Given the description of an element on the screen output the (x, y) to click on. 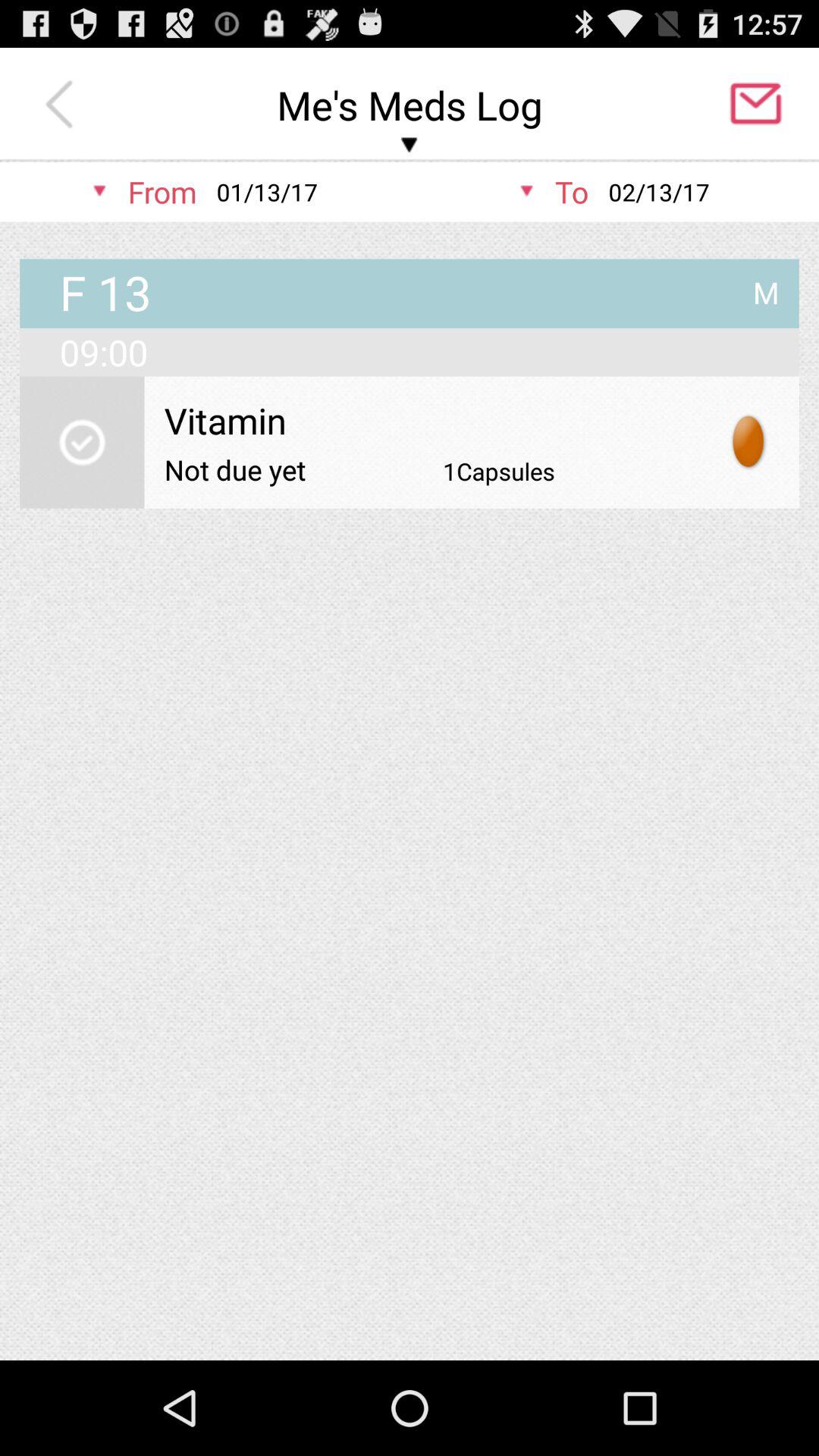
turn on the not due yet (234, 469)
